Given the description of an element on the screen output the (x, y) to click on. 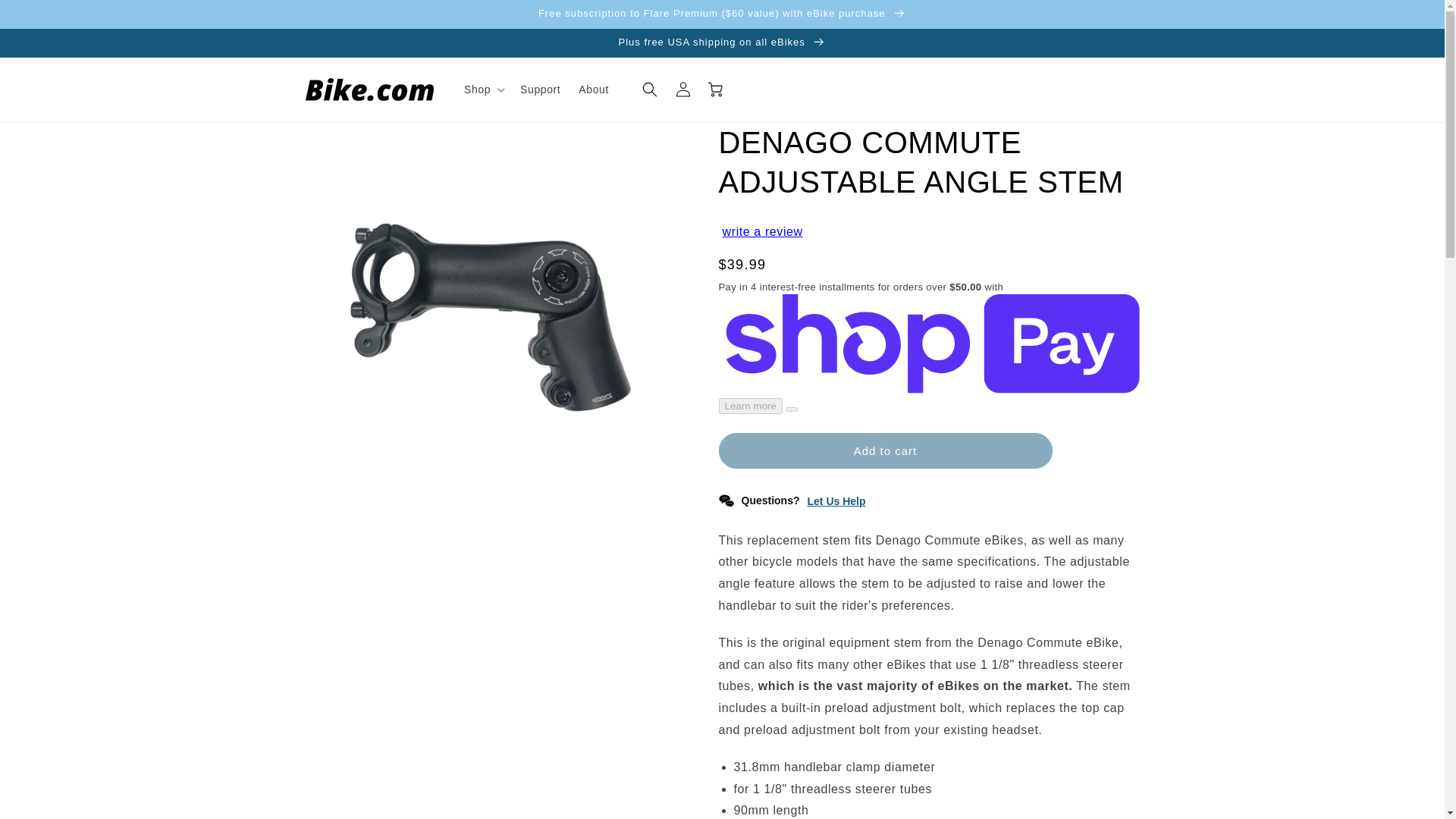
Cart (716, 89)
Support (540, 89)
Add to cart (885, 450)
Skip to content (45, 17)
Skip to product information (350, 140)
Log in (683, 89)
write a review (762, 231)
About (593, 89)
